Given the description of an element on the screen output the (x, y) to click on. 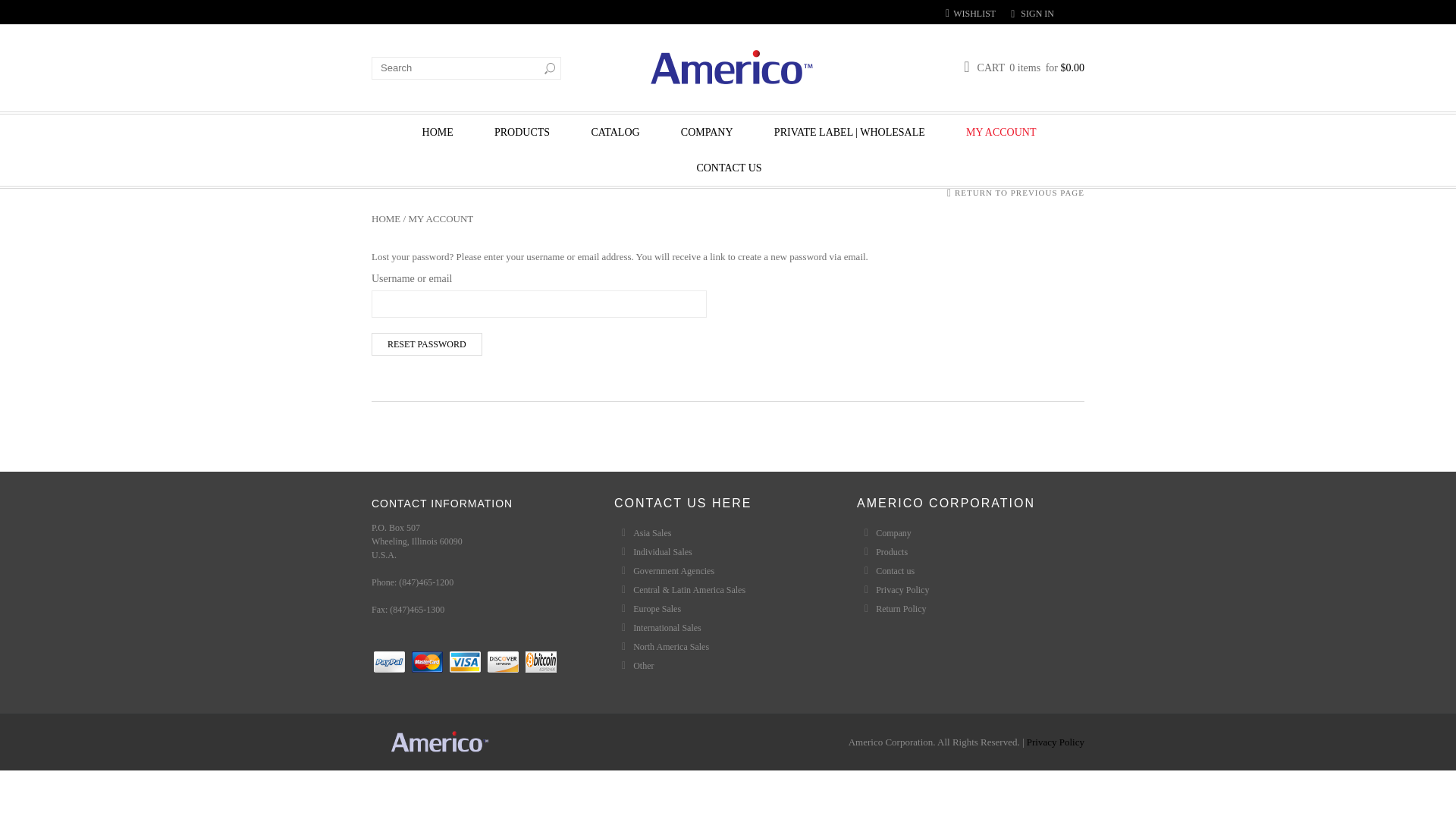
Reset Password (426, 343)
Go (549, 67)
SIGN IN (1037, 13)
CATALOG (614, 131)
MY ACCOUNT (1000, 131)
PRODUCTS (521, 131)
WISHLIST (969, 11)
HOME (438, 131)
Go (549, 67)
COMPANY (706, 131)
